Given the description of an element on the screen output the (x, y) to click on. 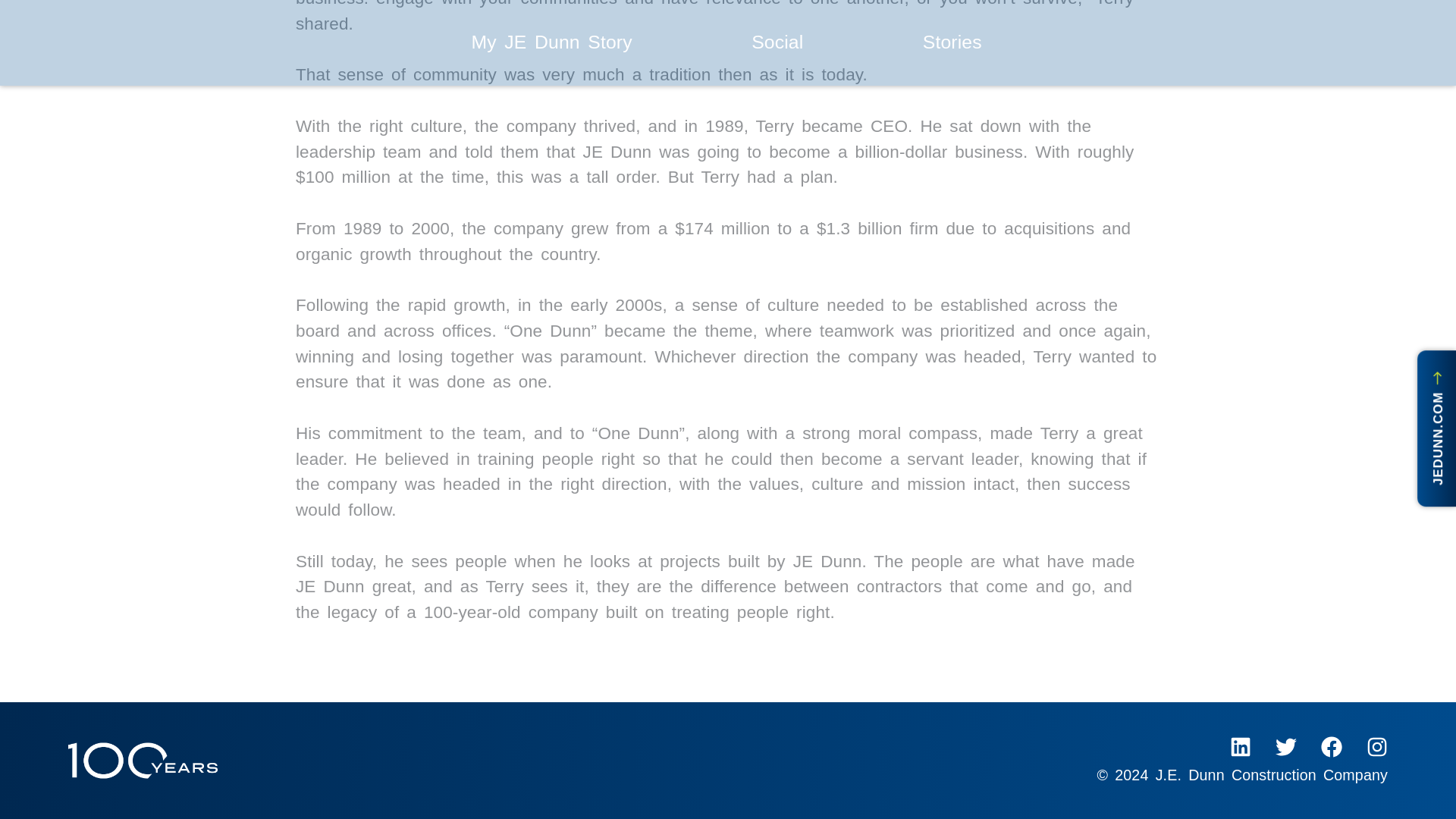
J.E. Dunn Construction Company (1271, 774)
100-years-logo-white - Centennial (142, 760)
